Given the description of an element on the screen output the (x, y) to click on. 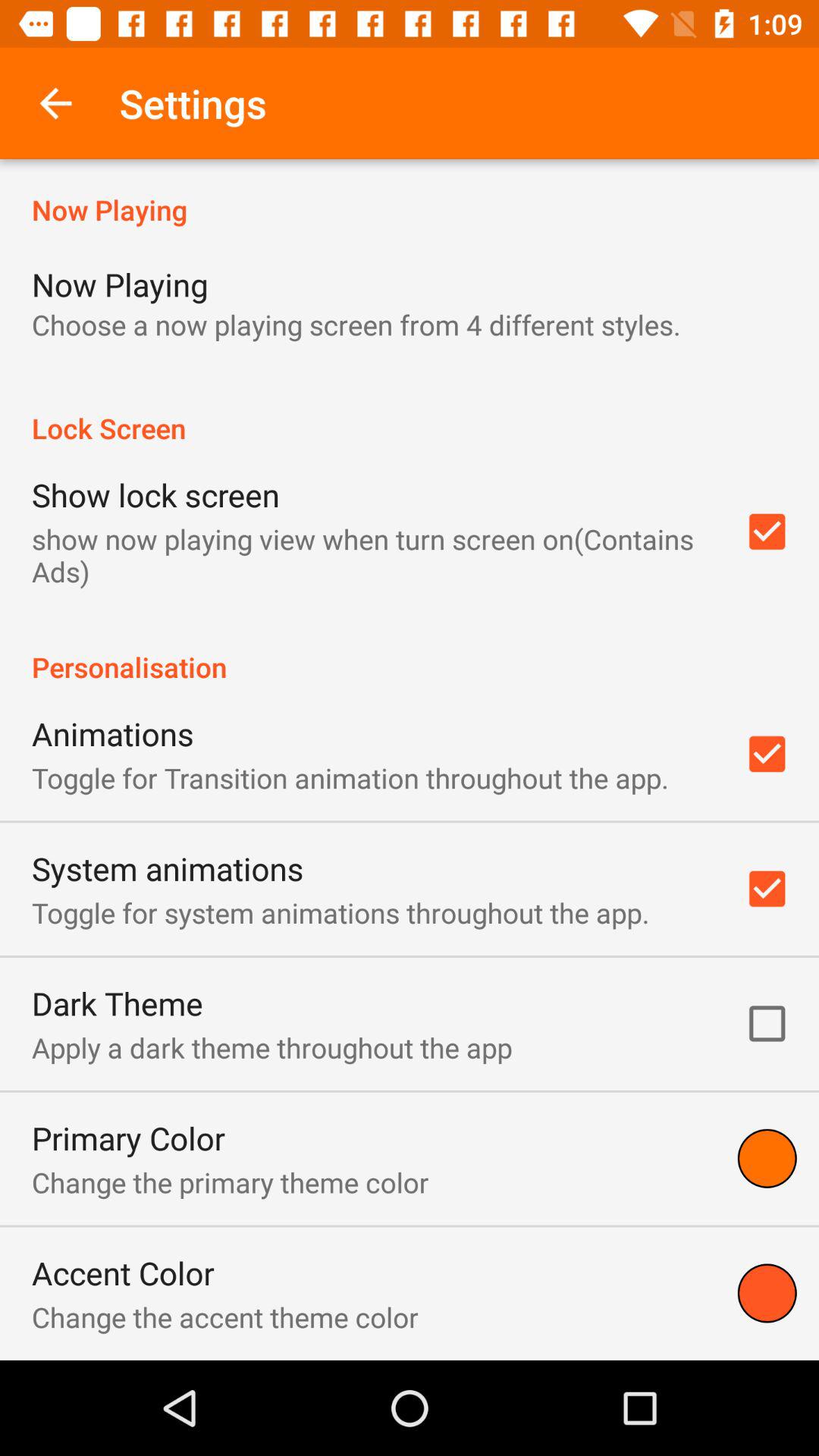
press icon below now playing icon (355, 324)
